Given the description of an element on the screen output the (x, y) to click on. 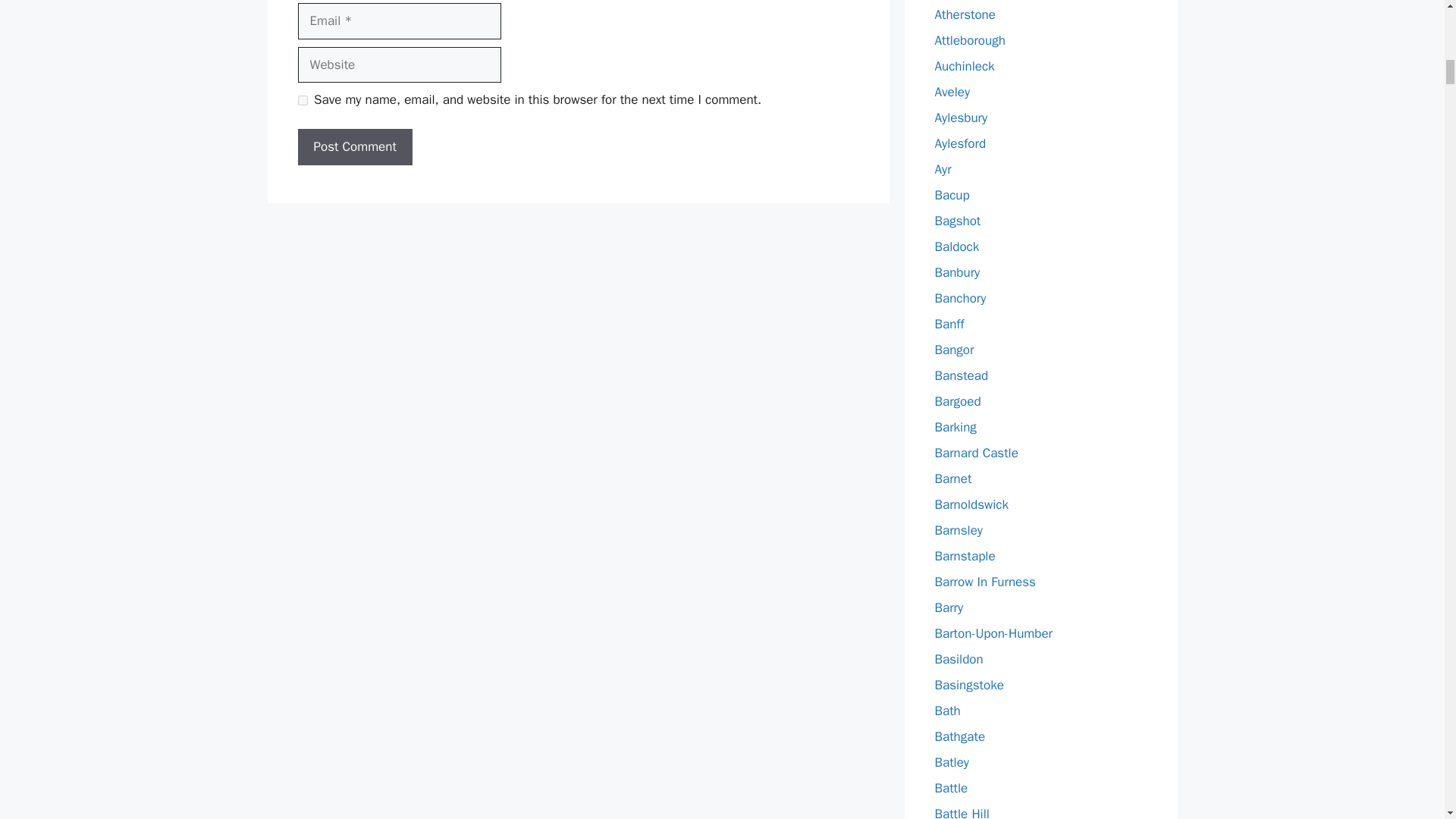
Post Comment (354, 146)
Post Comment (354, 146)
yes (302, 100)
